Given the description of an element on the screen output the (x, y) to click on. 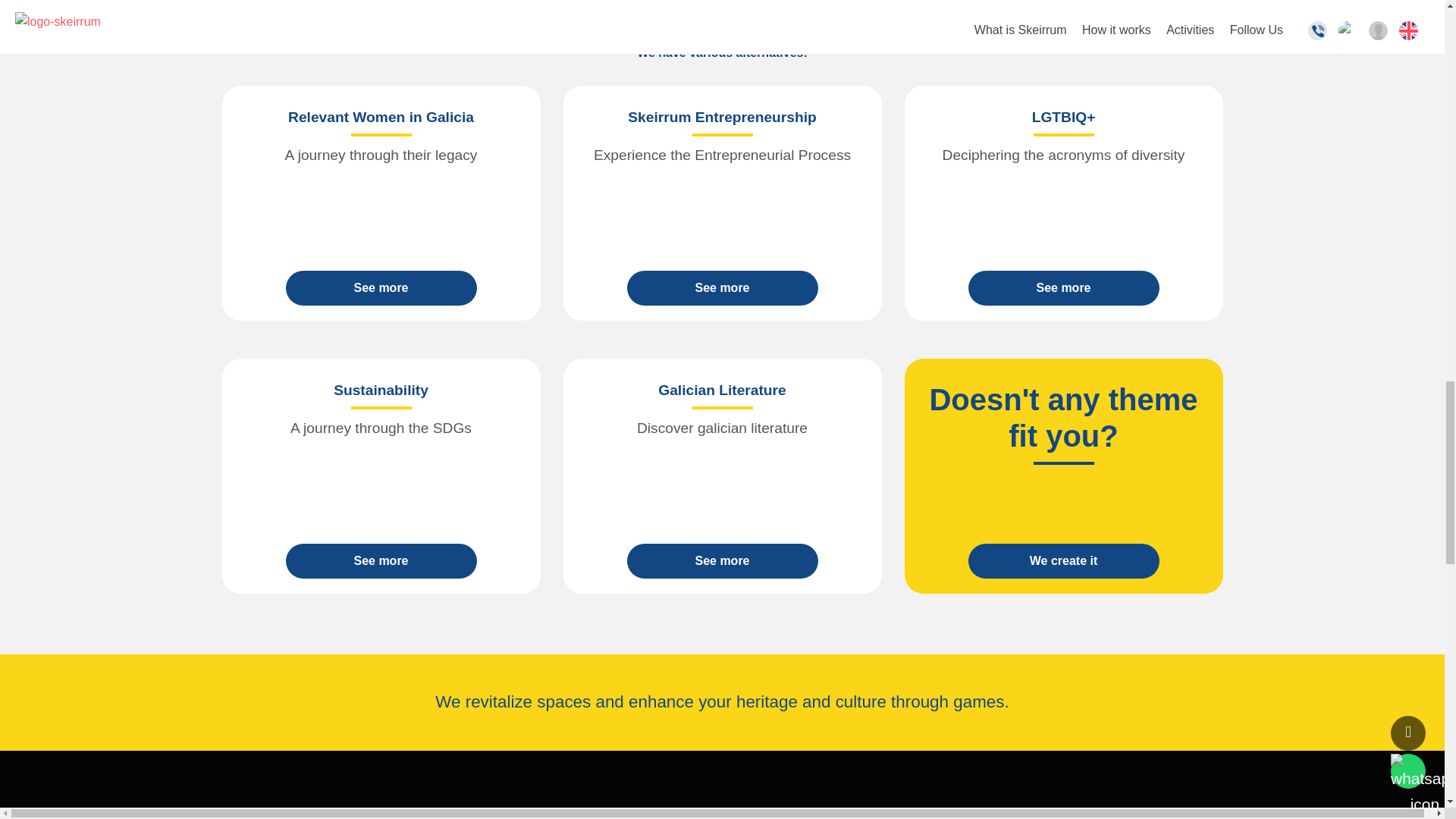
See more (380, 288)
See more (721, 288)
See more (1063, 288)
See more (721, 560)
See more (380, 560)
We create it (1063, 560)
